Given the description of an element on the screen output the (x, y) to click on. 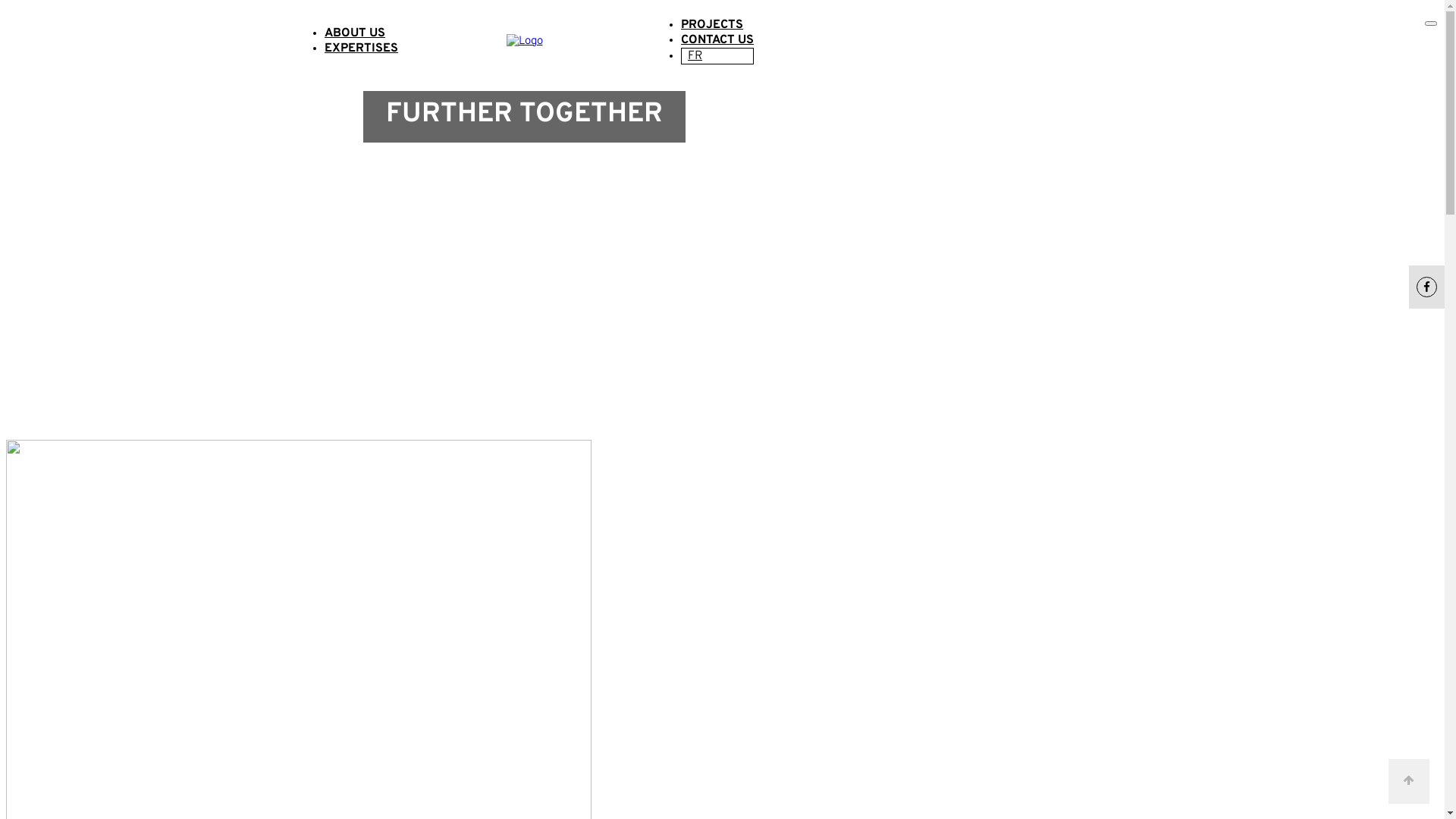
EXPERTISES Element type: text (361, 48)
ABOUT US Element type: text (354, 32)
PROJECTS Element type: text (711, 24)
FR Element type: text (695, 54)
CONTACT US Element type: text (716, 39)
